Given the description of an element on the screen output the (x, y) to click on. 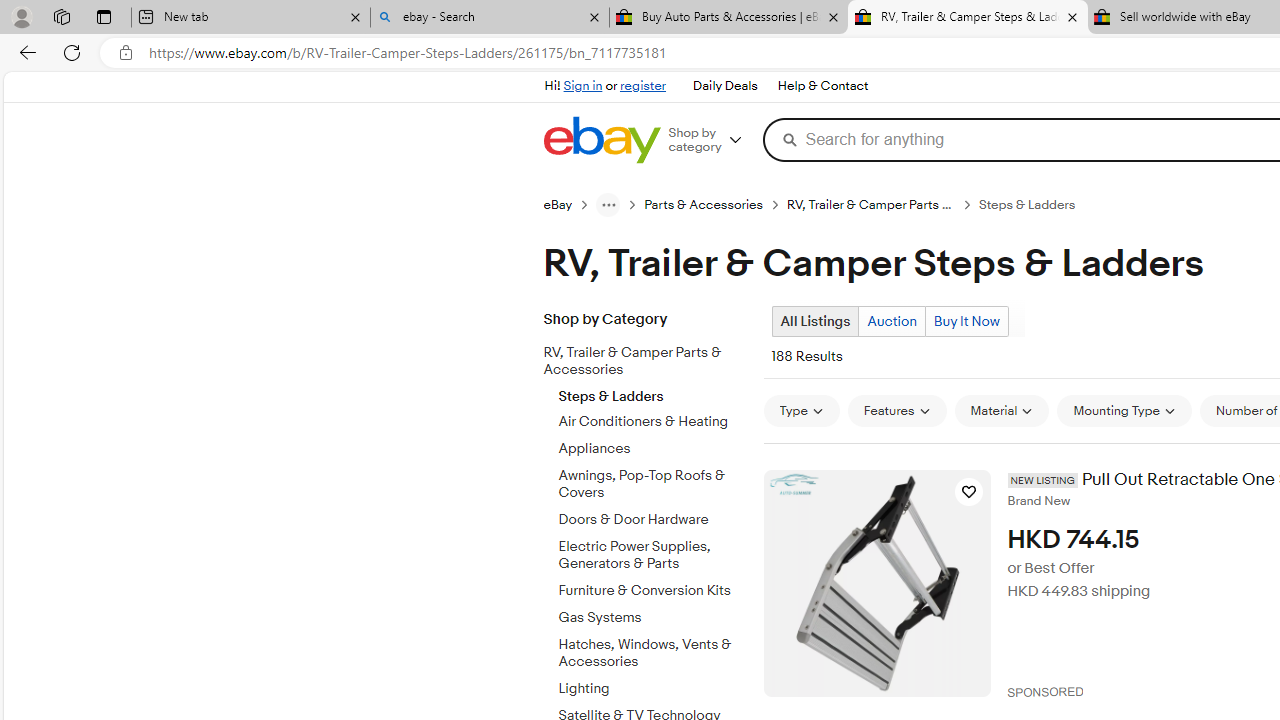
RV, Trailer & Camper Steps & Ladders for sale | eBay (967, 17)
All Listings (814, 321)
Tab actions menu (104, 16)
Appliances (653, 445)
Gas Systems (653, 618)
Mounting Type (1124, 410)
register (642, 85)
Steps & Ladders (653, 392)
Gas Systems (653, 614)
Parts & Accessories (715, 204)
breadcrumb menu (608, 204)
Material (1001, 410)
Refresh (72, 52)
Hatches, Windows, Vents & Accessories (653, 649)
